Given the description of an element on the screen output the (x, y) to click on. 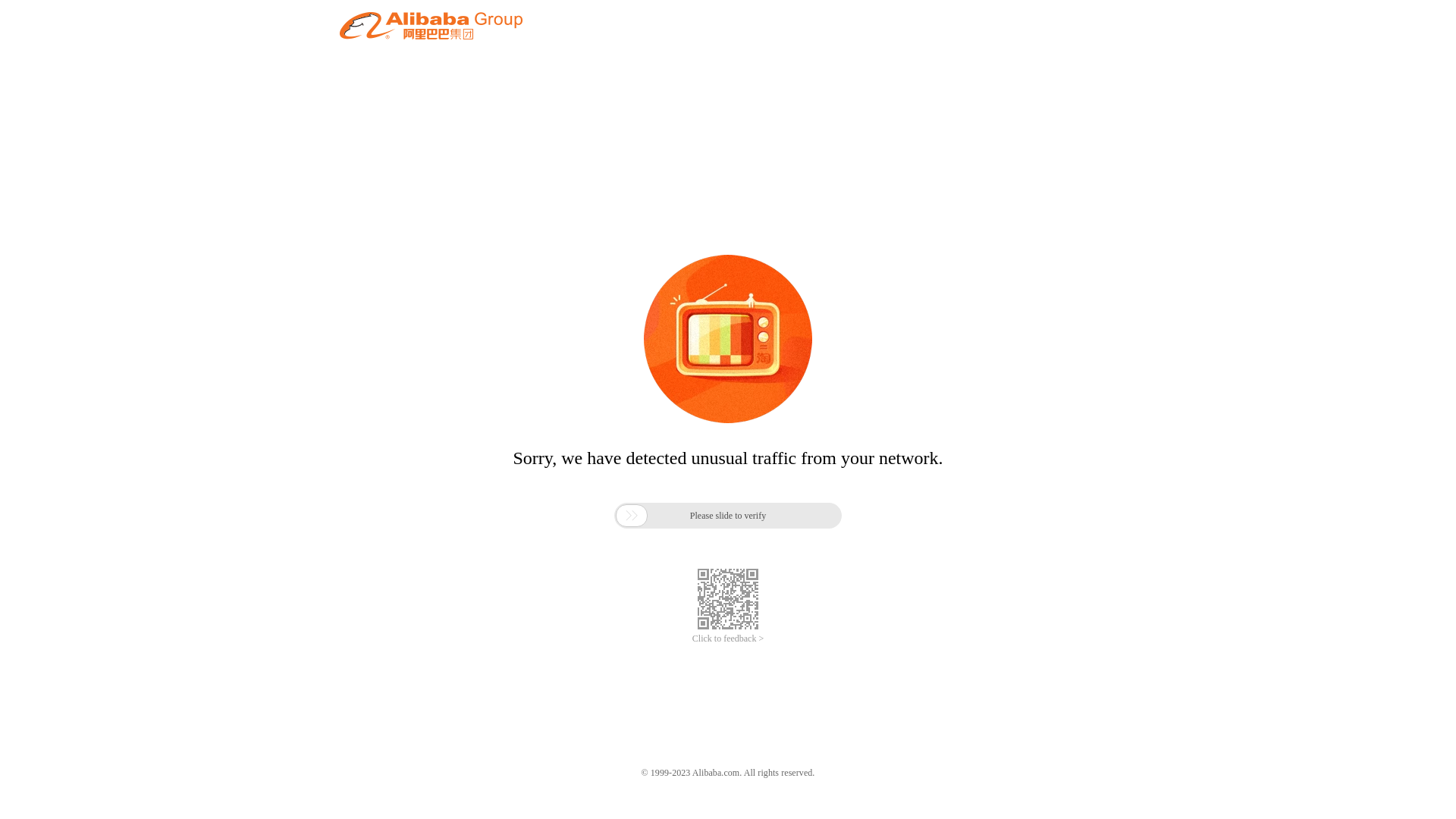
Click to feedback > Element type: text (727, 638)
